Given the description of an element on the screen output the (x, y) to click on. 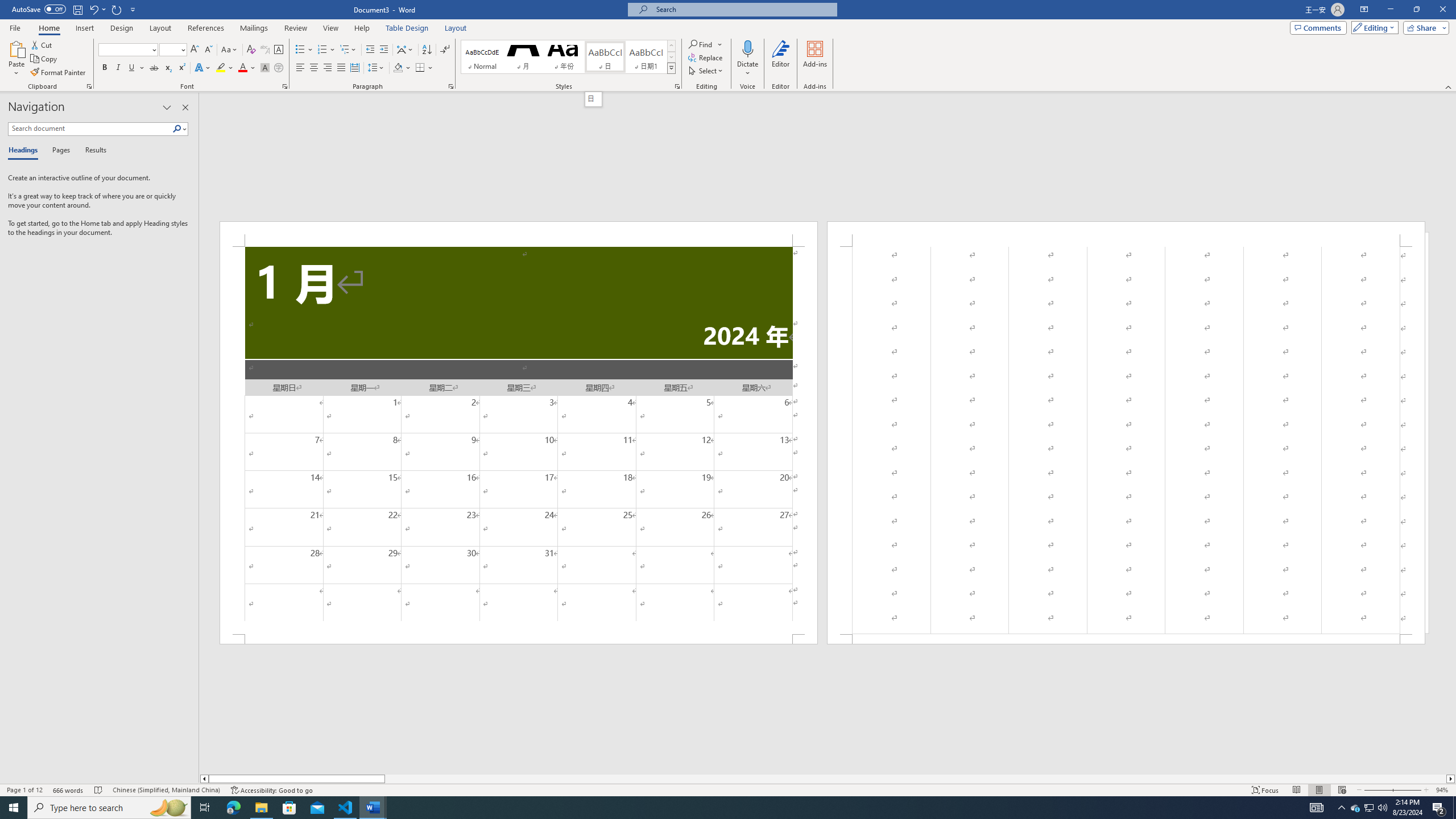
Change Case (229, 49)
Shrink Font (208, 49)
Bullets (304, 49)
AutomationID: QuickStylesGallery (568, 56)
Bullets (300, 49)
Borders (419, 67)
File Tab (15, 27)
Select (705, 69)
Footer -Section 1- (1126, 638)
Dictate (747, 48)
Help (361, 28)
Character Border (278, 49)
Find (705, 44)
